Given the description of an element on the screen output the (x, y) to click on. 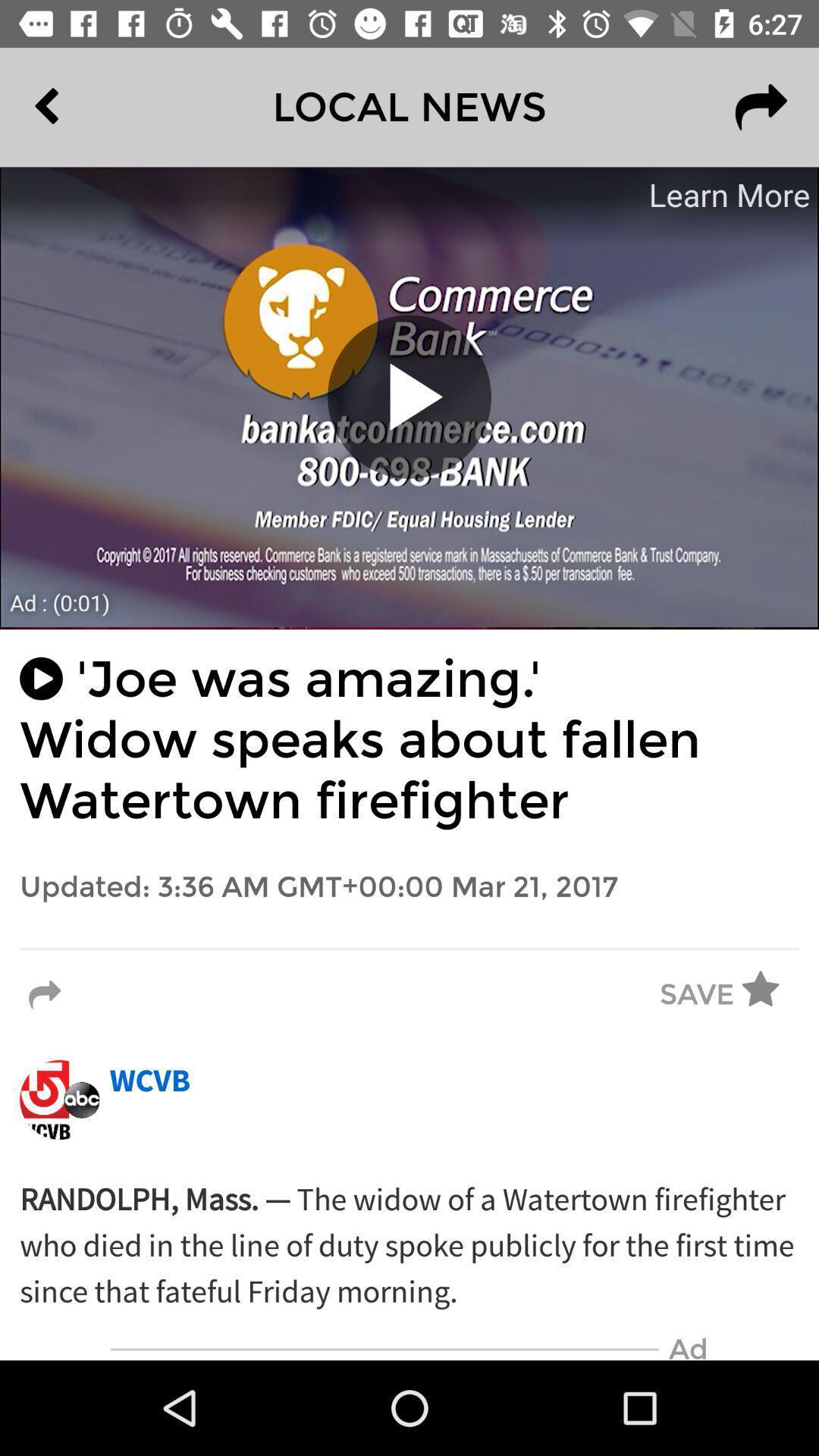
to play the ad/file (409, 397)
